Given the description of an element on the screen output the (x, y) to click on. 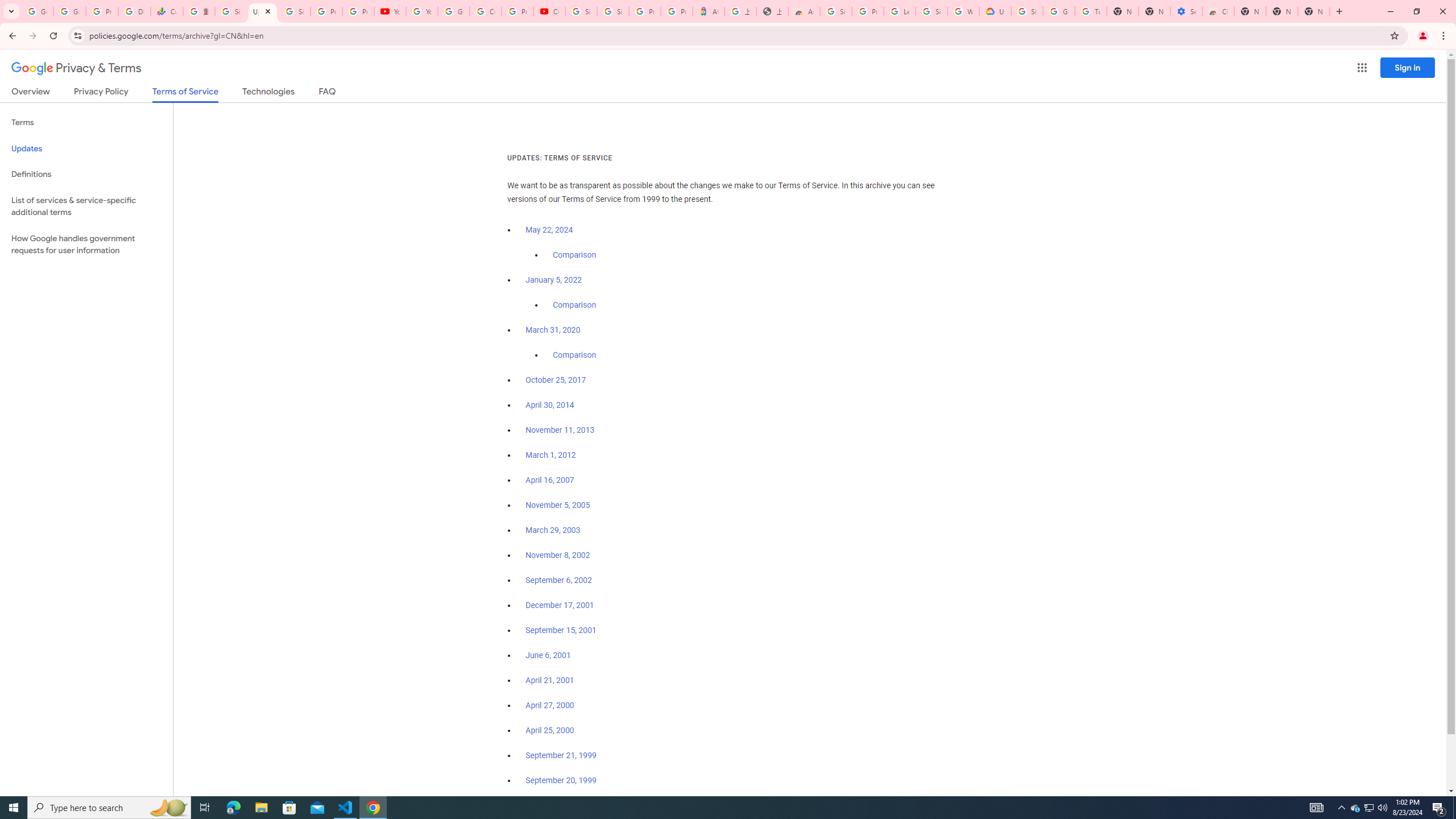
January 5, 2022 (553, 280)
Turn cookies on or off - Computer - Google Account Help (1091, 11)
Sign in - Google Accounts (836, 11)
Sign in - Google Accounts (230, 11)
October 25, 2017 (555, 380)
Sign in - Google Accounts (931, 11)
